Given the description of an element on the screen output the (x, y) to click on. 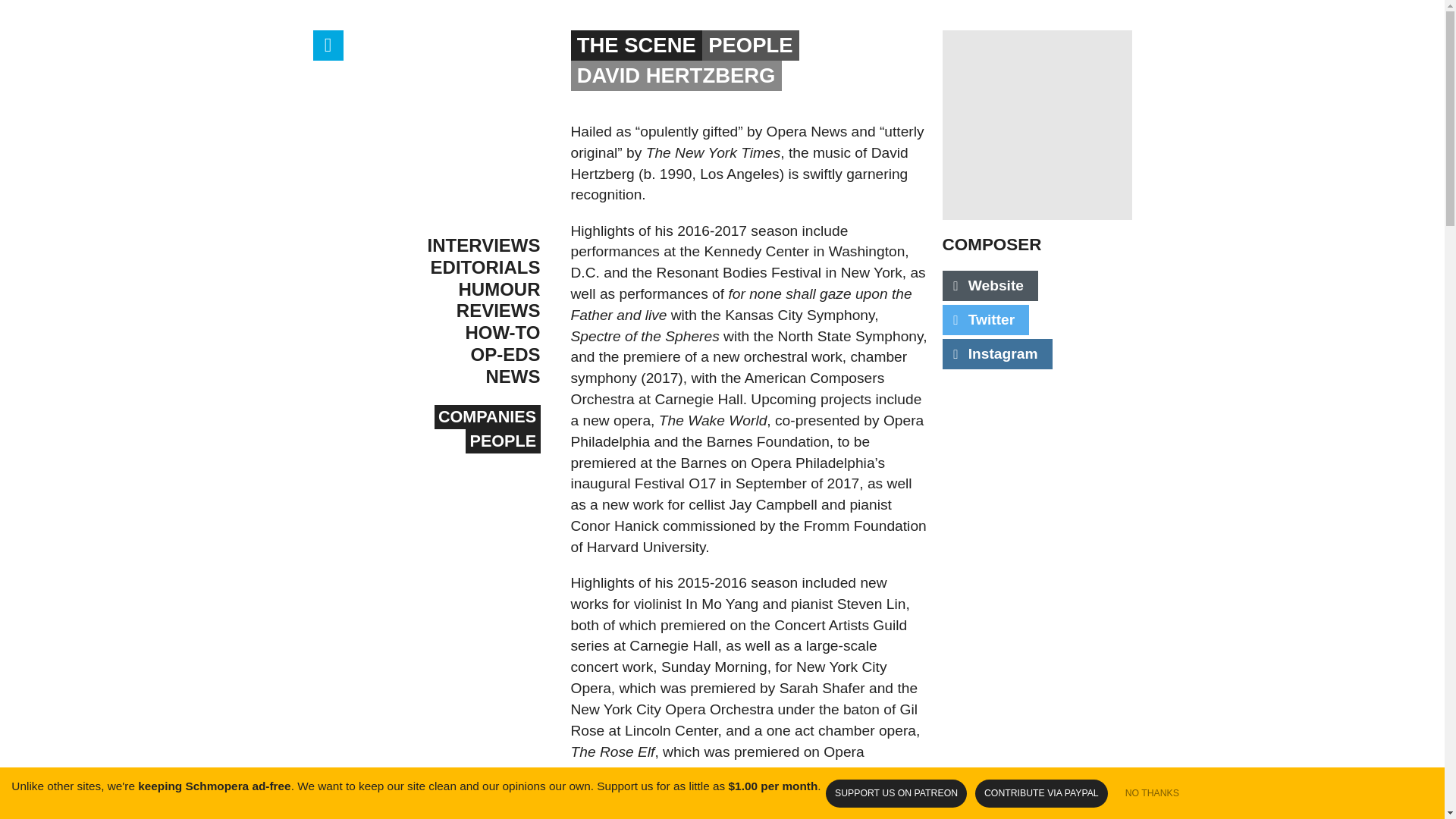
COMPANIES (486, 416)
PEOPLE (750, 45)
David Hertzberg (1036, 125)
PEOPLE (502, 441)
Website (990, 286)
Twitter (985, 319)
REVIEWS (445, 311)
EDITORIALS (445, 268)
OP-EDS (445, 354)
NEWS (445, 377)
HOW-TO (445, 332)
INTERVIEWS (445, 246)
Back to home page (445, 125)
Primary Navigation (327, 45)
